Given the description of an element on the screen output the (x, y) to click on. 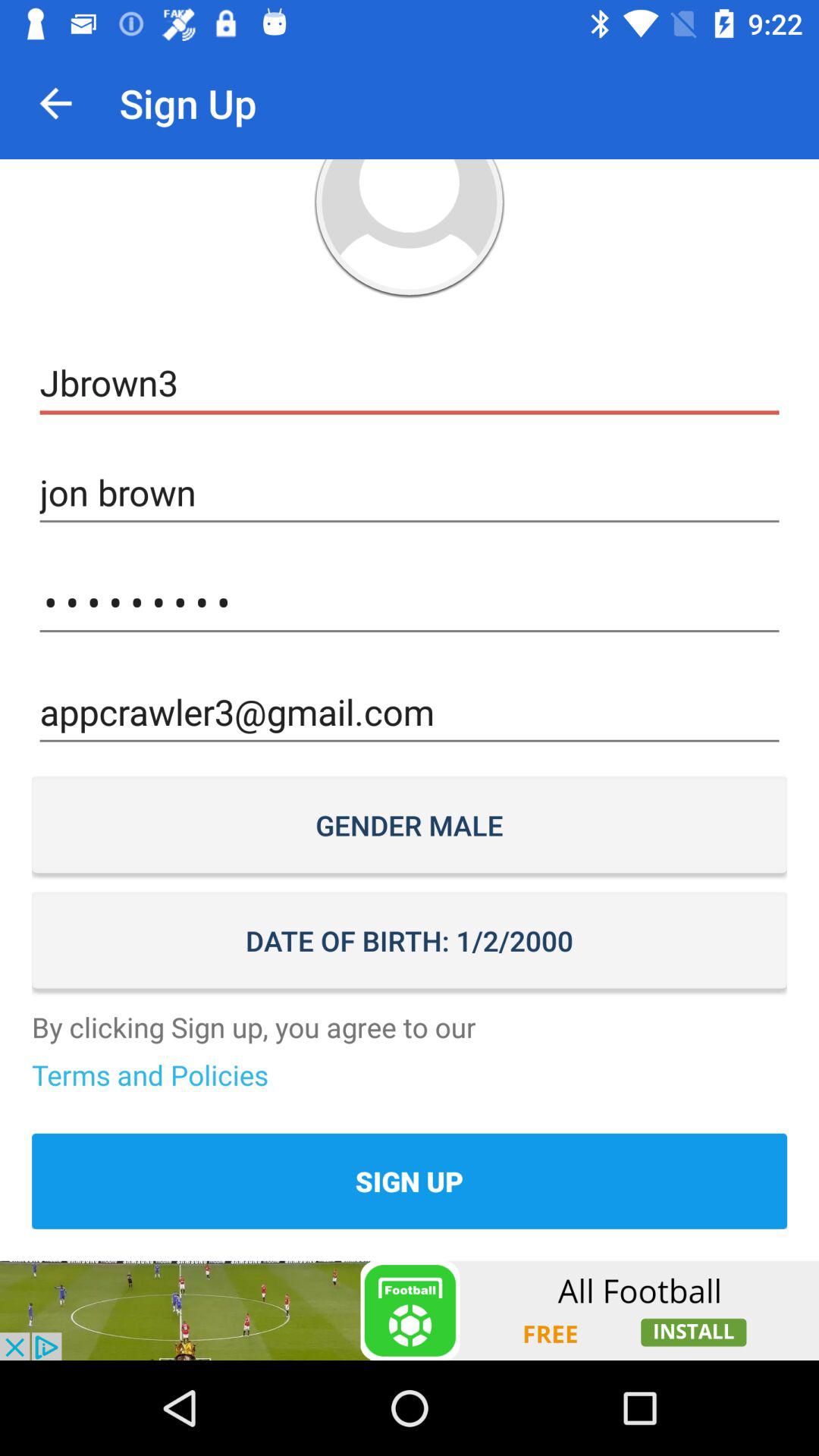
advertisement (409, 1310)
